Given the description of an element on the screen output the (x, y) to click on. 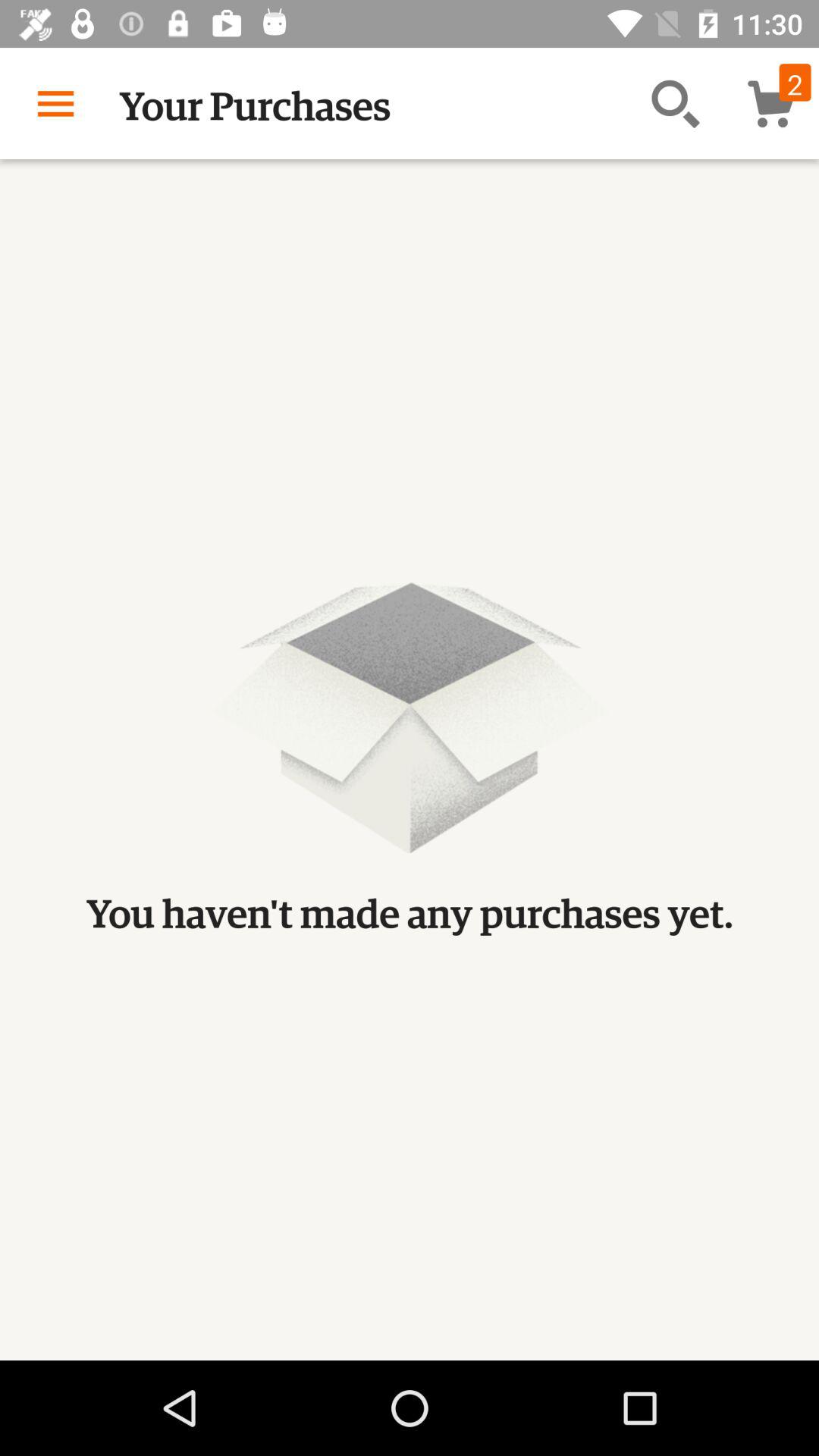
press the item to the right of your purchases app (675, 103)
